Given the description of an element on the screen output the (x, y) to click on. 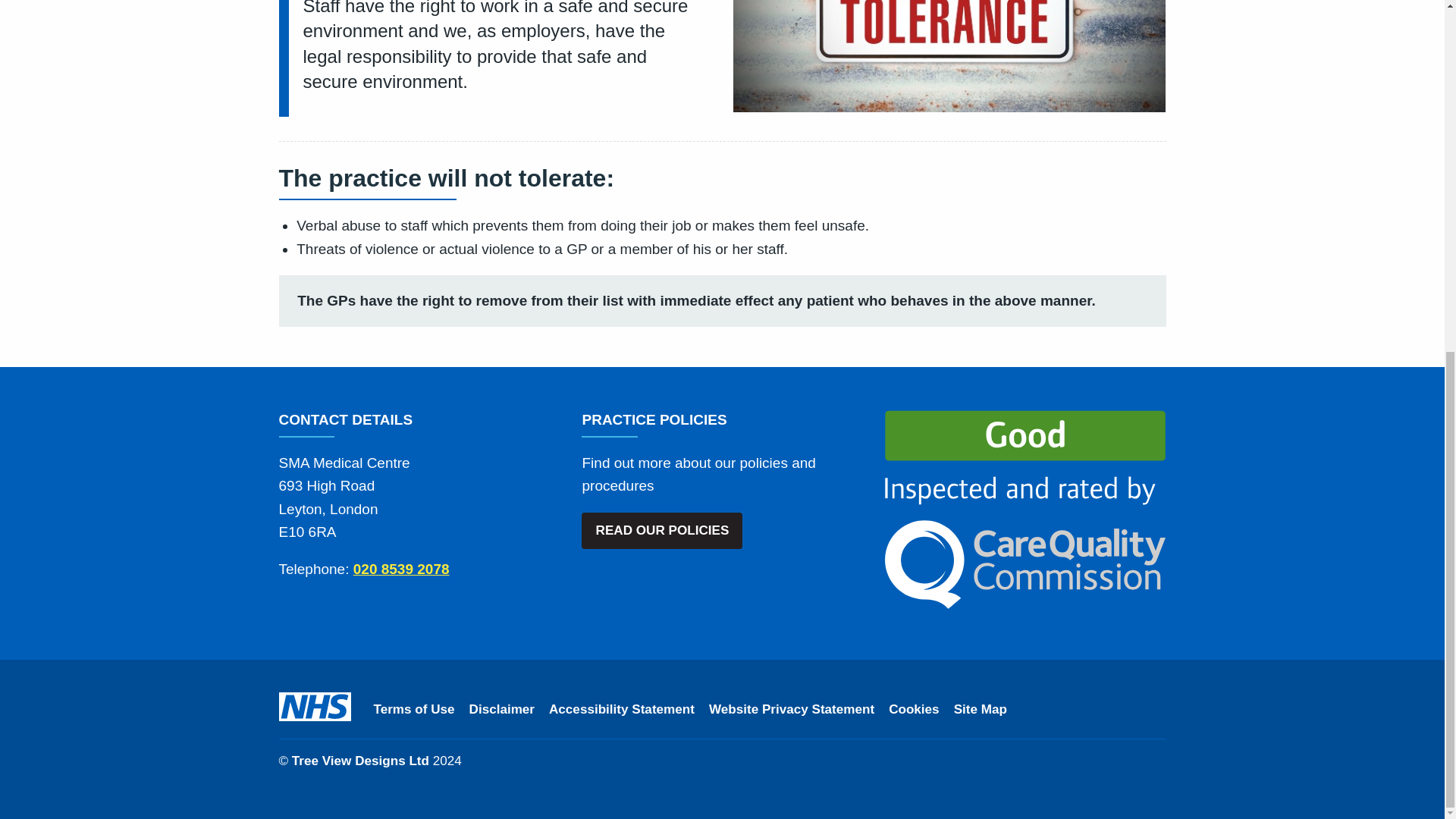
Site Map (980, 709)
Terms of Use (413, 709)
READ OUR POLICIES (661, 530)
020 8539 2078 (401, 569)
The NHS Logo (314, 706)
Tree View Designs Ltd (360, 760)
Disclaimer (501, 709)
Website Privacy Statement (792, 709)
Accessibility Statement (621, 709)
Cookies (913, 709)
